Given the description of an element on the screen output the (x, y) to click on. 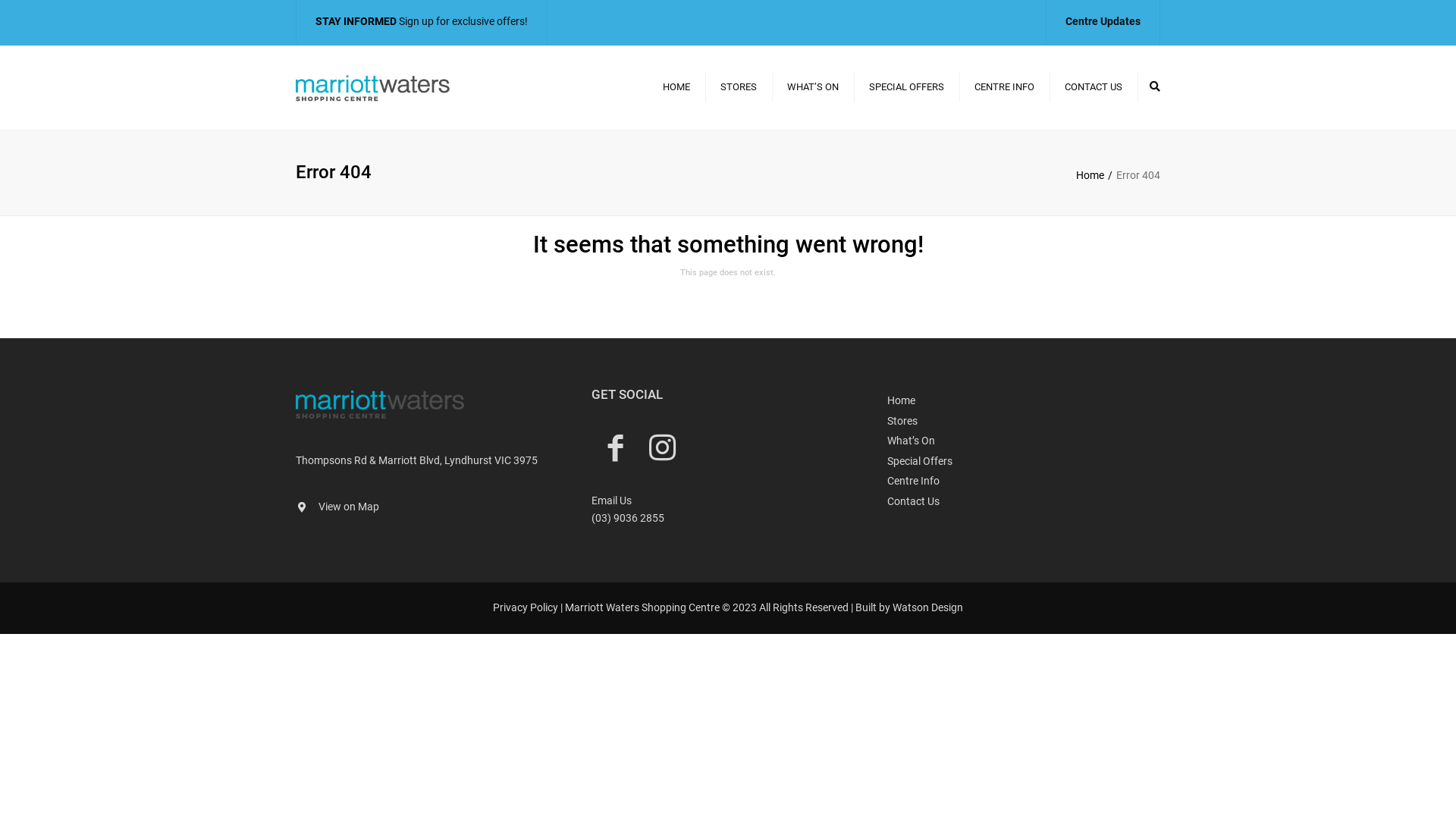
Centre Info Element type: text (1023, 480)
SPECIAL OFFERS Element type: text (906, 87)
Special Offers Element type: text (1023, 461)
Centre Updates Element type: text (1102, 21)
HOME Element type: text (676, 87)
STORES Element type: text (738, 87)
Privacy Policy Element type: text (525, 607)
STAY INFORMED Sign up for exclusive offers! Element type: text (421, 21)
Contact Us Element type: text (1023, 501)
CONTACT US Element type: text (1093, 87)
CENTRE INFO Element type: text (1003, 87)
View on Map Element type: text (348, 506)
Search Element type: text (1154, 86)
Email Us Element type: text (611, 500)
Stores Element type: text (1023, 421)
Home Element type: text (1096, 175)
Built by Watson Design Element type: text (909, 607)
Home Element type: text (1023, 400)
